Given the description of an element on the screen output the (x, y) to click on. 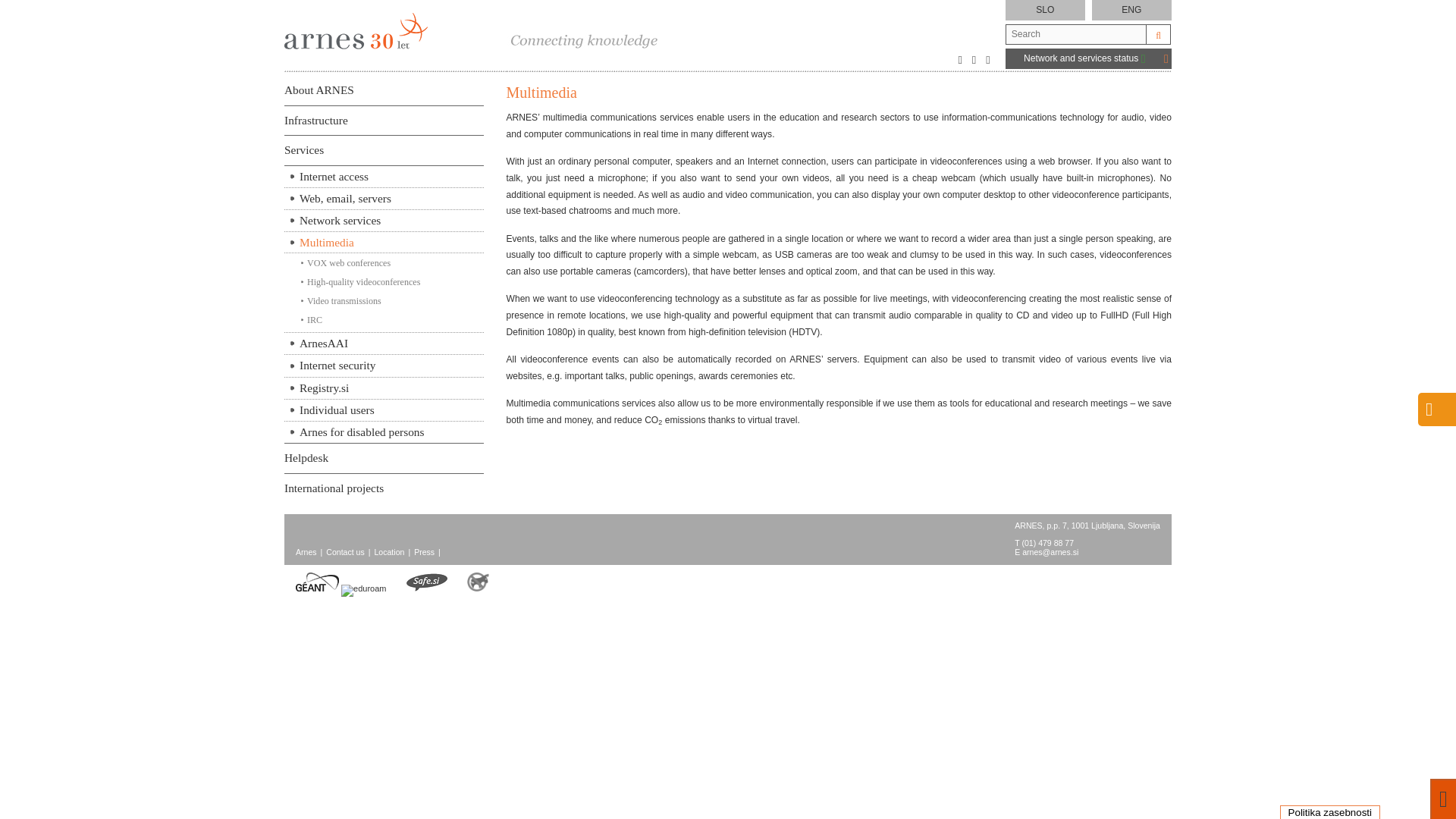
Network and services status (1085, 58)
Search (1157, 34)
Web, email, servers (383, 198)
SLO (1044, 9)
Internet access (383, 176)
Services (383, 150)
Network services (383, 220)
ENG (1131, 9)
About ARNES (383, 91)
Infrastructure (383, 121)
